Given the description of an element on the screen output the (x, y) to click on. 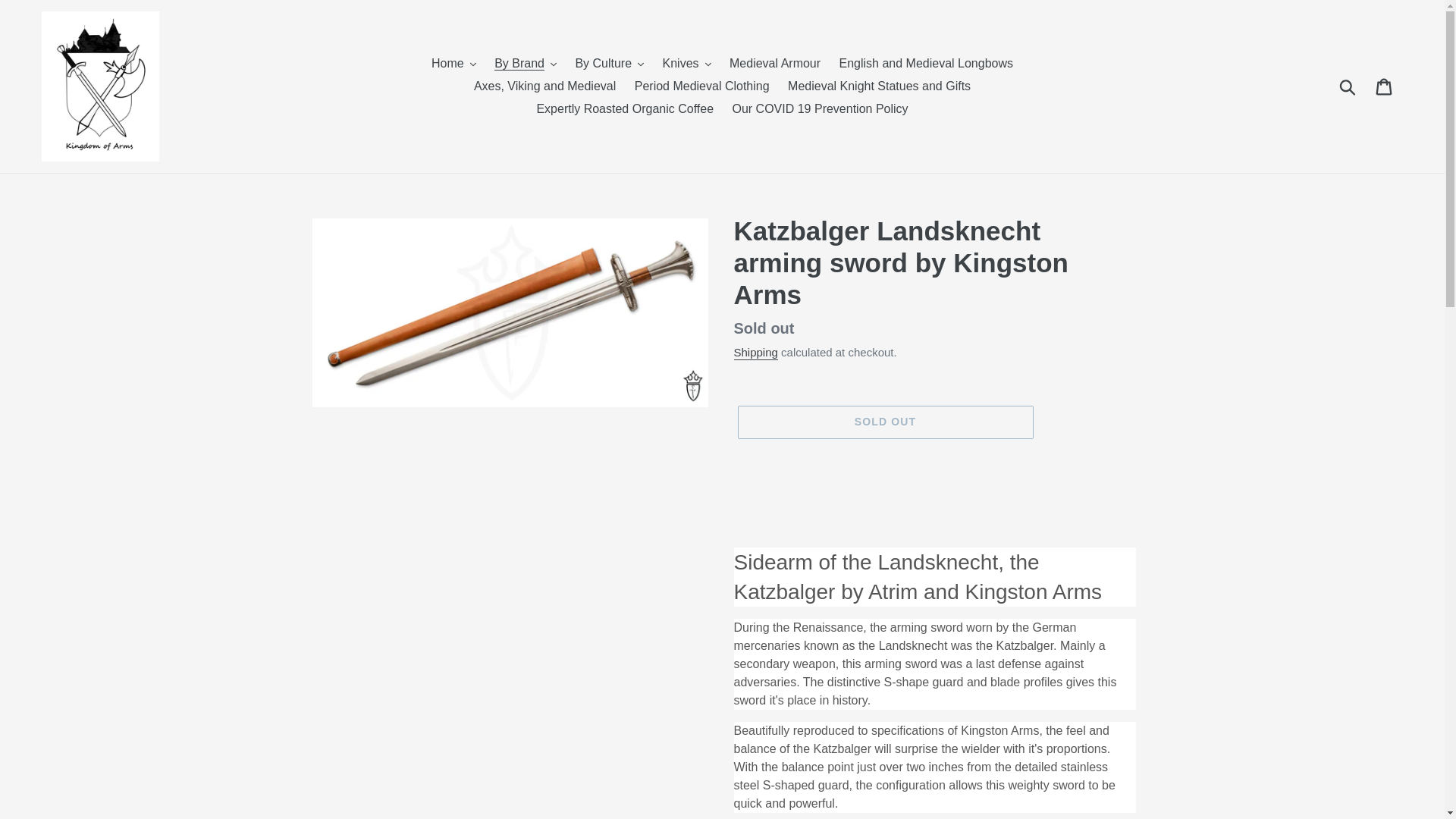
Medieval Armour (775, 63)
Period Medieval Clothing (702, 86)
Axes, Viking and Medieval (544, 86)
Expertly Roasted Organic Coffee (624, 108)
English and Medieval Longbows (925, 63)
Submit (1348, 86)
Cart (1385, 86)
Our COVID 19 Prevention Policy (819, 108)
Medieval Knight Statues and Gifts (879, 86)
